Given the description of an element on the screen output the (x, y) to click on. 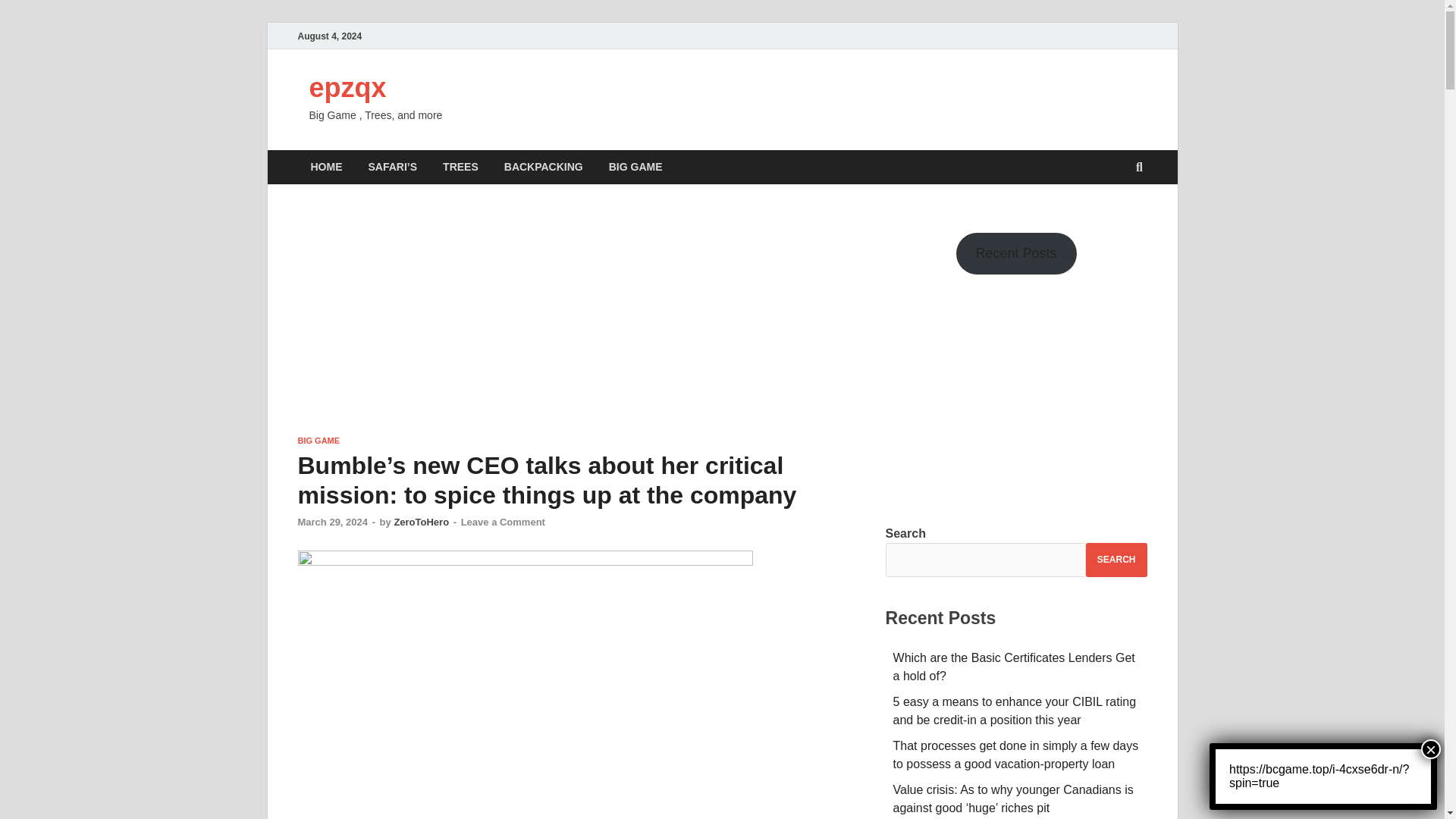
TREES (460, 166)
BIG GAME (318, 440)
BIG GAME (635, 166)
HOME (326, 166)
ZeroToHero (420, 521)
BACKPACKING (543, 166)
Leave a Comment (502, 521)
March 29, 2024 (332, 521)
epzqx (347, 87)
